Given the description of an element on the screen output the (x, y) to click on. 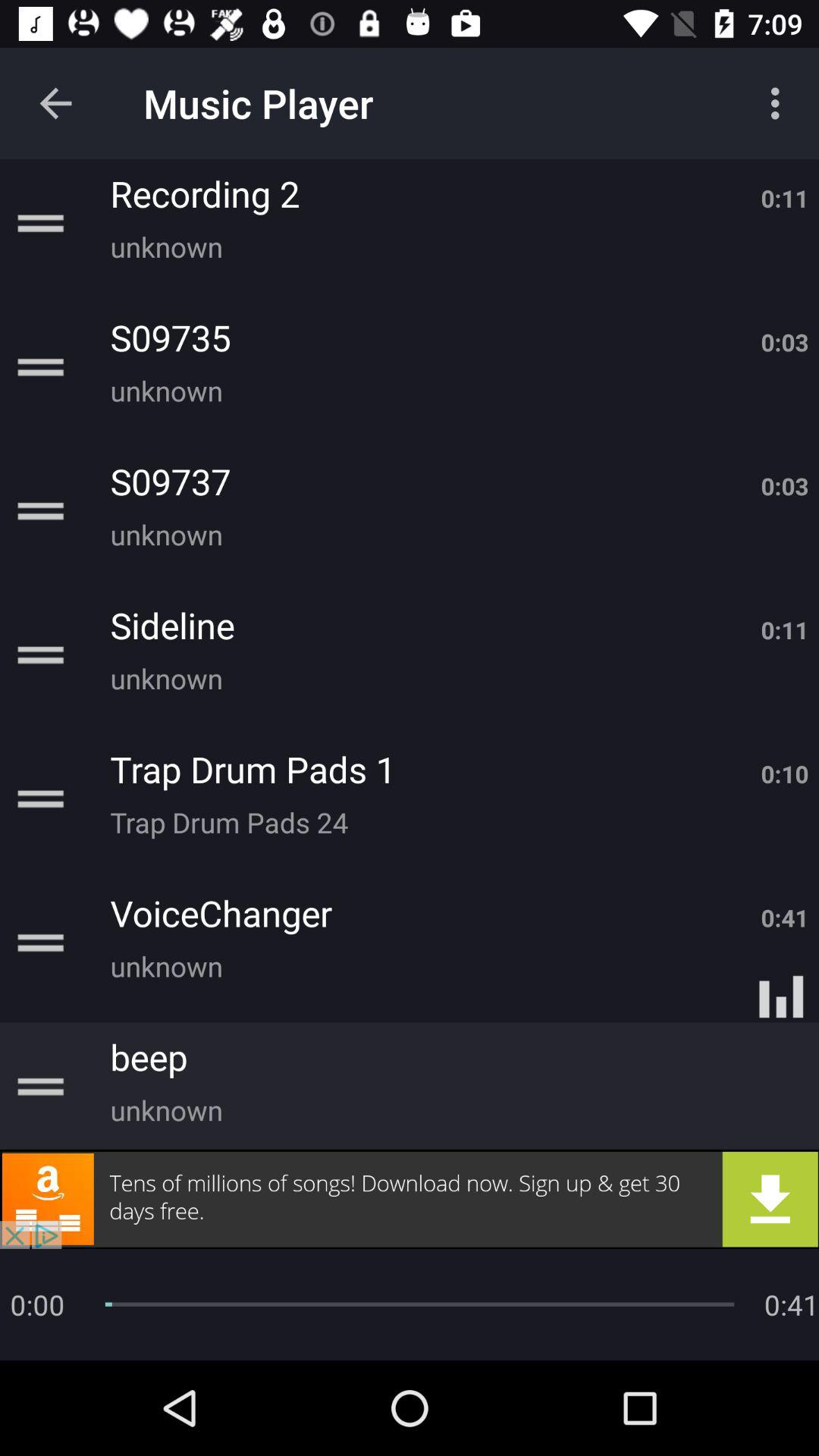
go to advertisement (409, 1198)
